Given the description of an element on the screen output the (x, y) to click on. 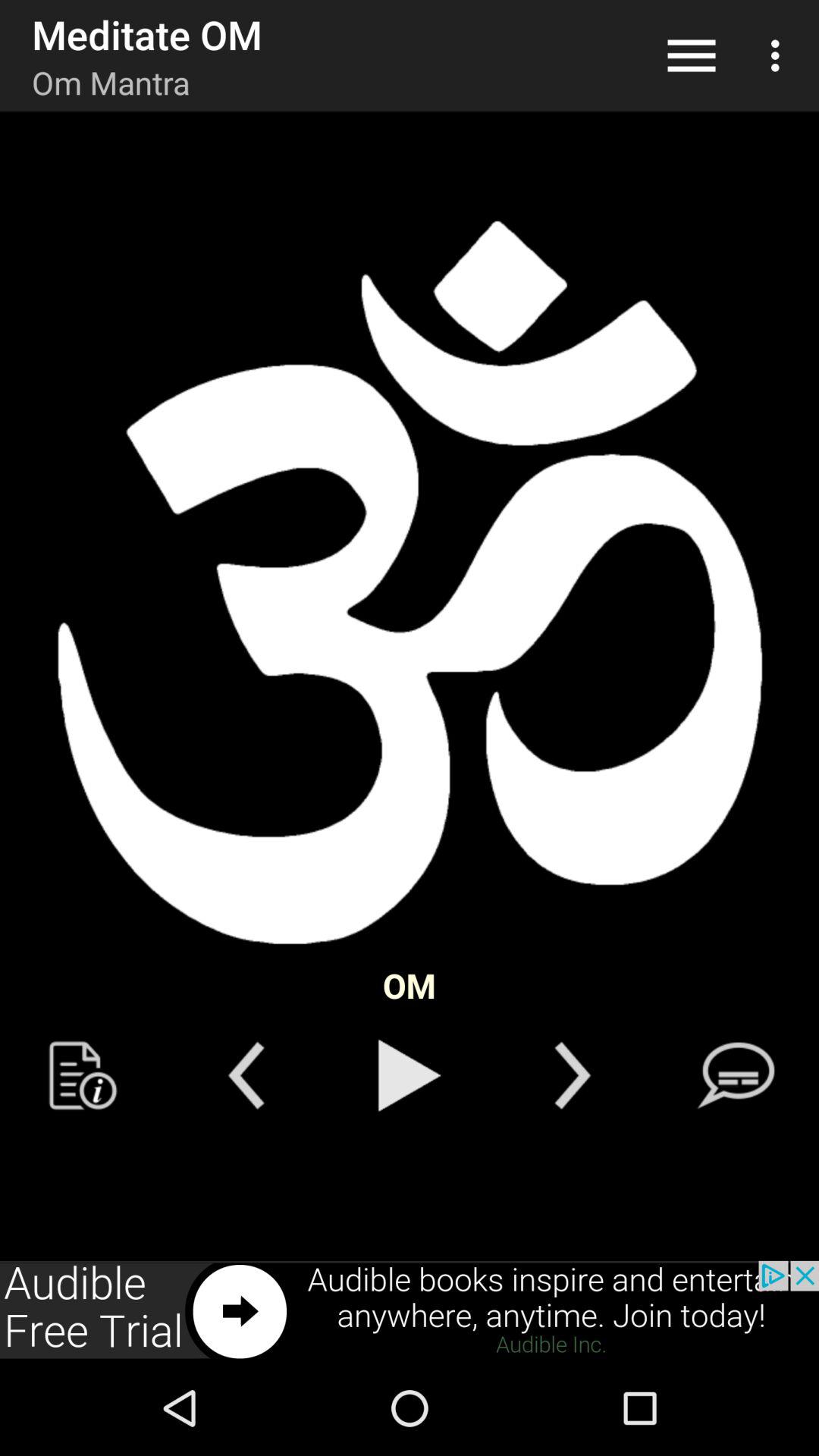
sound pega (409, 1075)
